Given the description of an element on the screen output the (x, y) to click on. 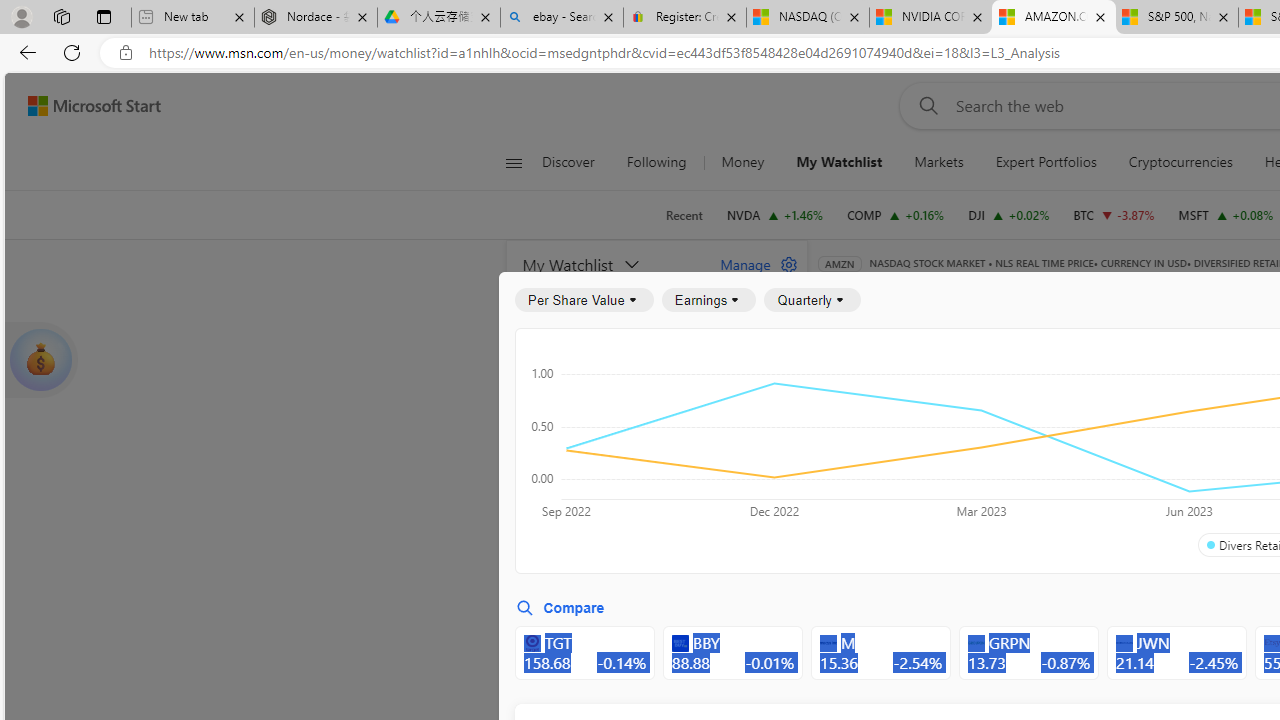
Markets (938, 162)
Manage (751, 264)
Cash Flow (1166, 391)
Per Share Value (584, 300)
Money (742, 162)
Earnings (708, 300)
remove from your watchlist (786, 498)
Growth Rates (1058, 445)
